Given the description of an element on the screen output the (x, y) to click on. 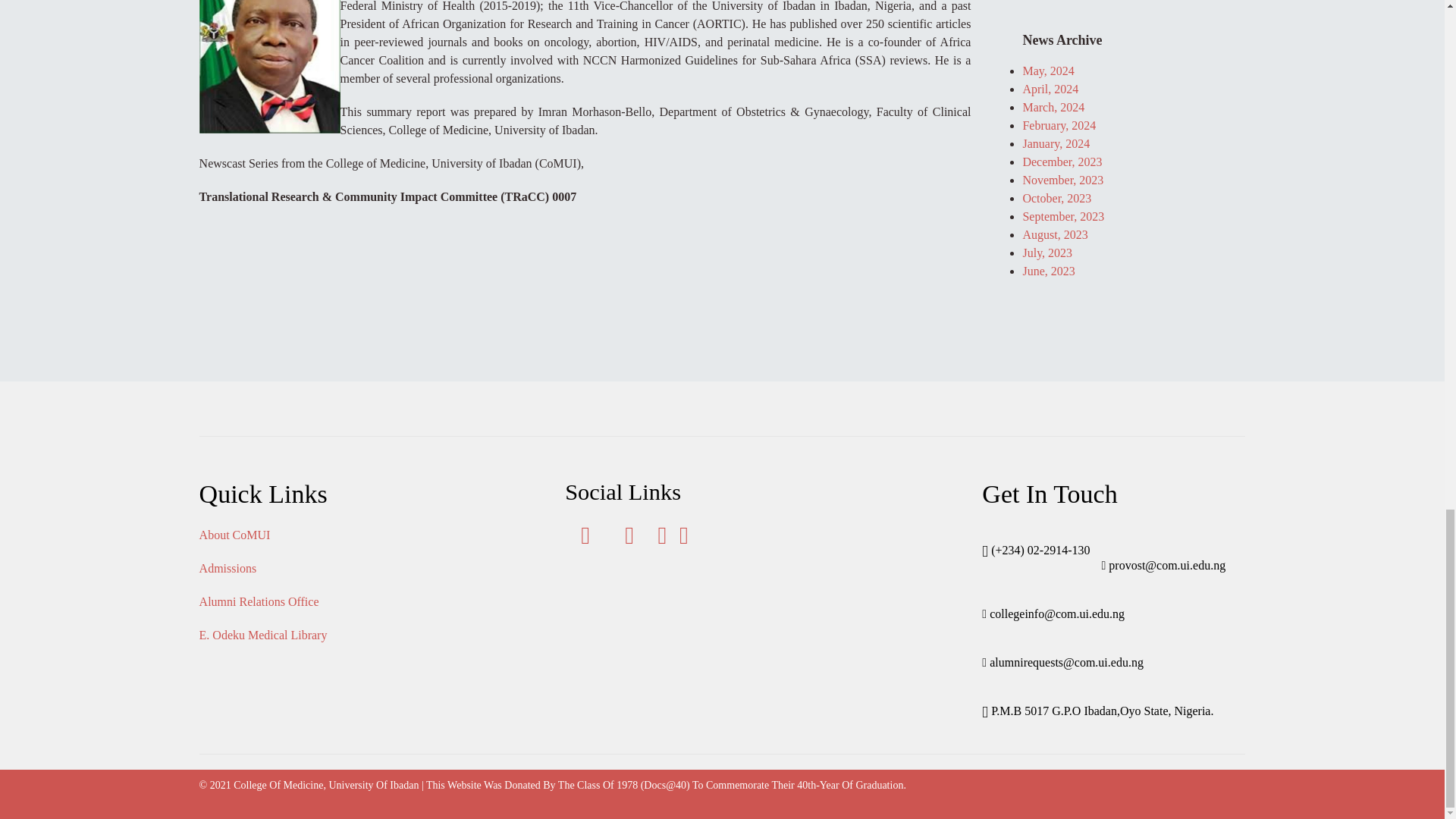
Instagram (684, 538)
Youtube (663, 538)
